Given the description of an element on the screen output the (x, y) to click on. 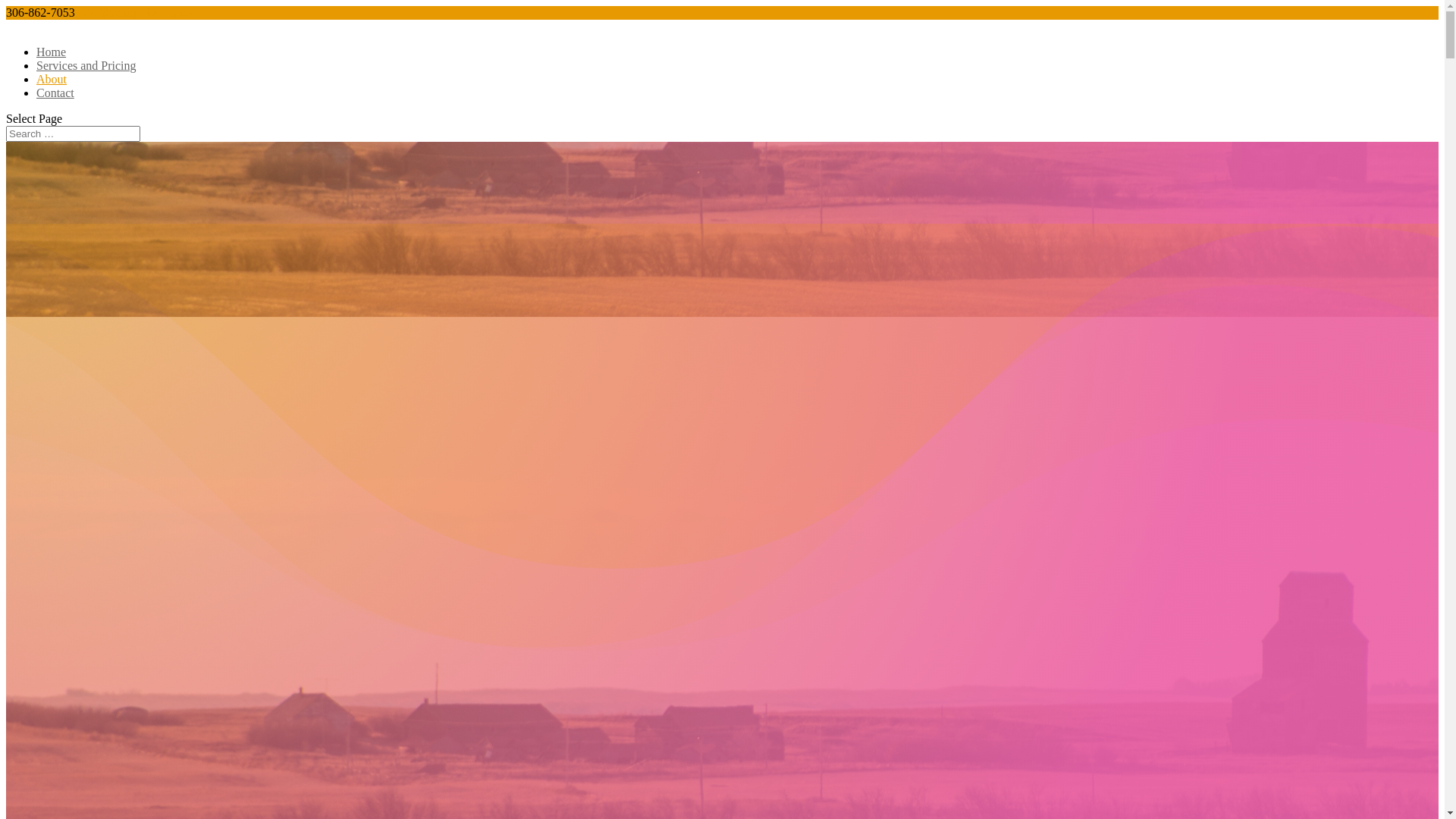
Services and Pricing Element type: text (86, 65)
info@baroquebunny.ca Element type: text (134, 12)
About Element type: text (51, 78)
Search for: Element type: hover (73, 133)
Contact Element type: text (55, 92)
Home Element type: text (50, 51)
